Given the description of an element on the screen output the (x, y) to click on. 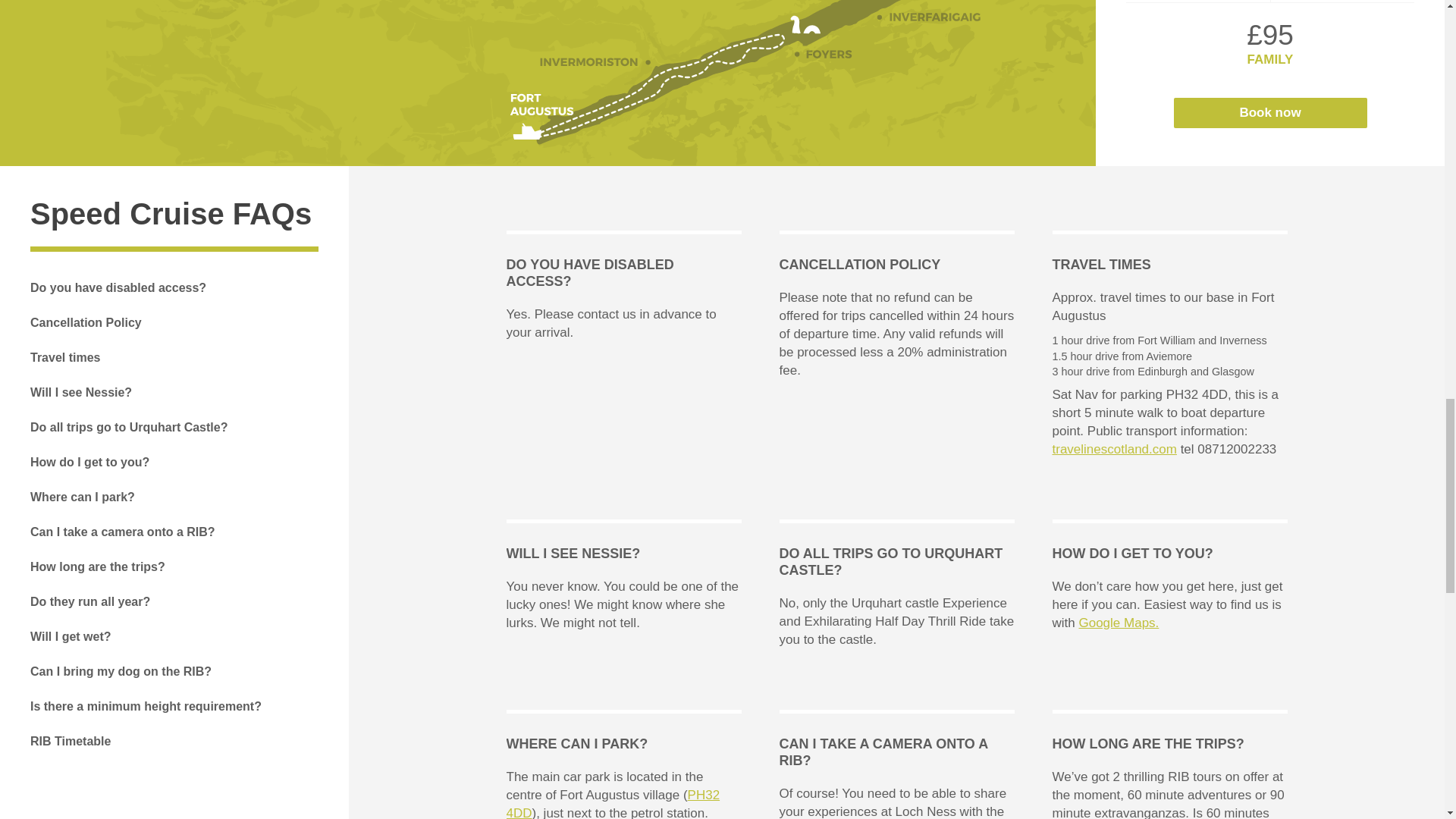
Book now (1270, 112)
Can I take a camera onto a RIB? (122, 532)
Do all trips go to Urquhart Castle? (128, 427)
Book now (1270, 112)
Travel times (65, 357)
Do you have disabled access? (118, 287)
Will I see Nessie? (81, 392)
How do I get to you? (89, 462)
How long are the trips? (97, 567)
Cancellation Policy (85, 322)
